Given the description of an element on the screen output the (x, y) to click on. 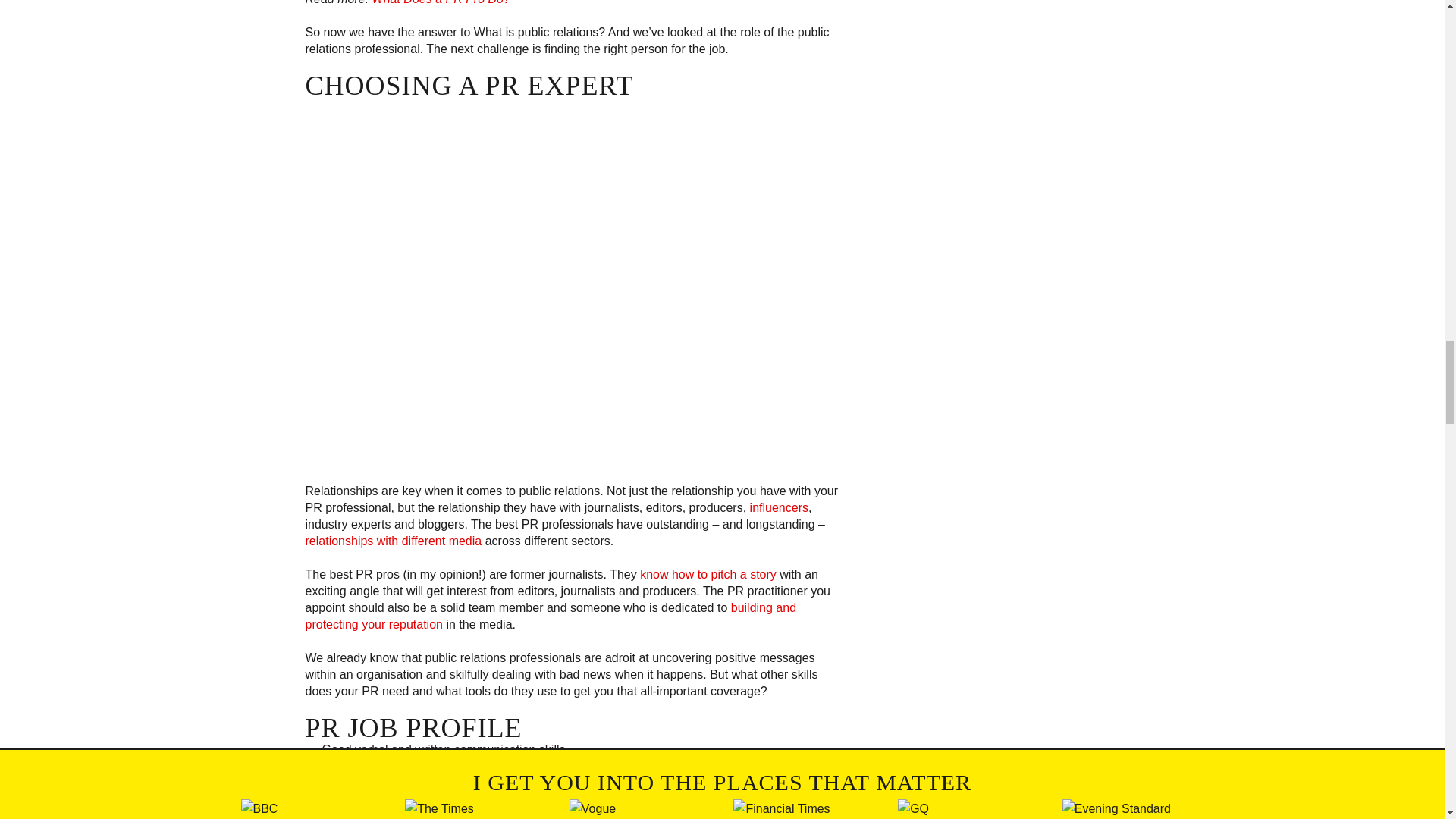
know how to pitch a story (708, 574)
building and protecting your reputation (550, 615)
relationships with different media (392, 540)
What Does a PR Pro Do? (441, 2)
influencers (778, 507)
influencers (778, 507)
